Given the description of an element on the screen output the (x, y) to click on. 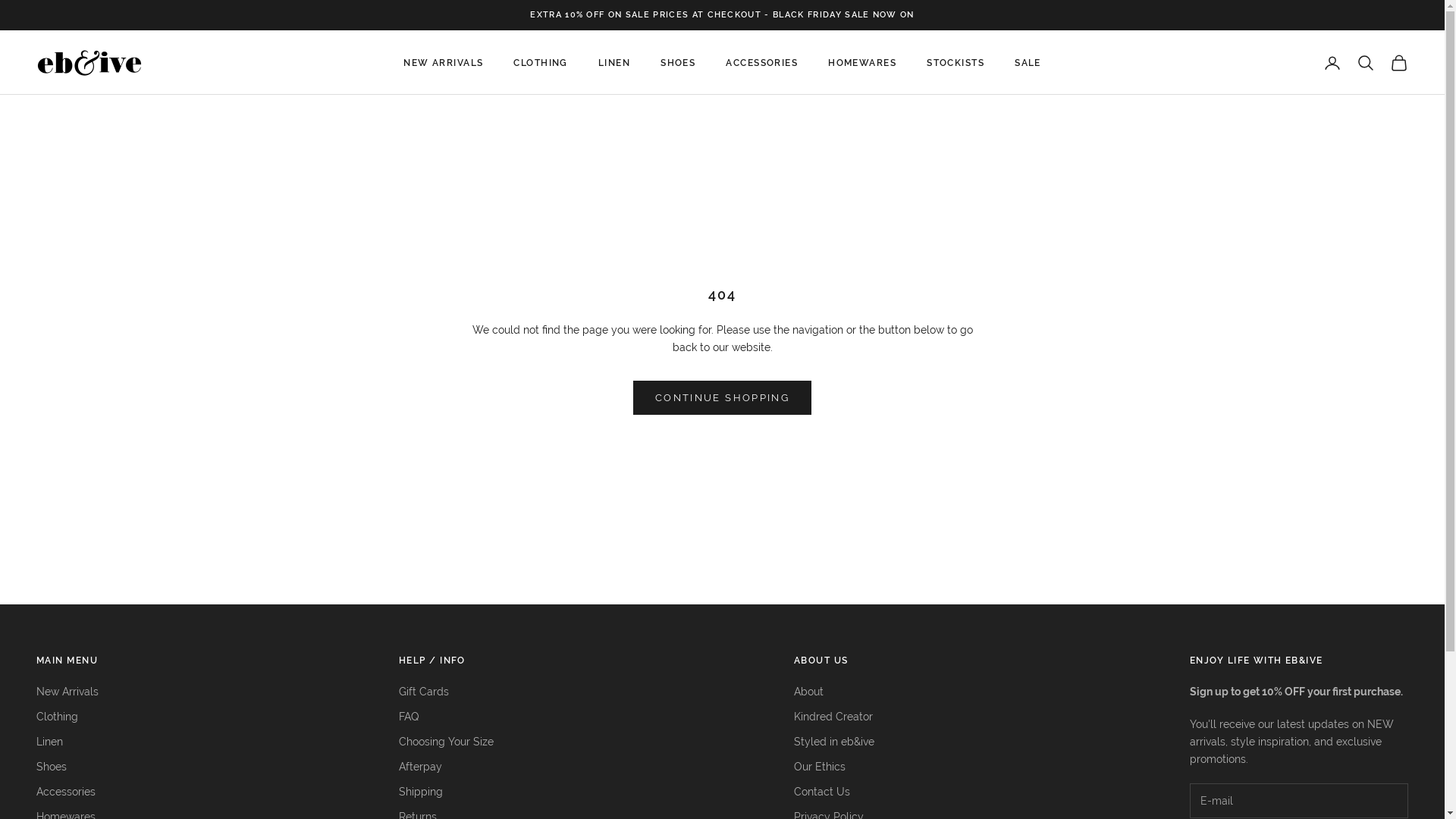
Linen Element type: text (49, 741)
About Element type: text (808, 691)
New Arrivals Element type: text (67, 691)
LINEN Element type: text (614, 62)
Shipping Element type: text (420, 791)
Contact Us Element type: text (821, 791)
Gift Cards Element type: text (423, 691)
Clothing Element type: text (57, 716)
Shoes Element type: text (51, 766)
CONTINUE SHOPPING Element type: text (722, 397)
Open search Element type: text (1365, 62)
Open cart Element type: text (1399, 62)
Kindred Creator Element type: text (832, 716)
Accessories Element type: text (65, 791)
Styled in eb&ive Element type: text (833, 741)
Open account page Element type: text (1332, 62)
eb&ive Element type: text (89, 62)
NEW ARRIVALS Element type: text (443, 62)
Our Ethics Element type: text (819, 766)
Choosing Your Size Element type: text (445, 741)
FAQ Element type: text (408, 716)
Afterpay Element type: text (420, 766)
